Given the description of an element on the screen output the (x, y) to click on. 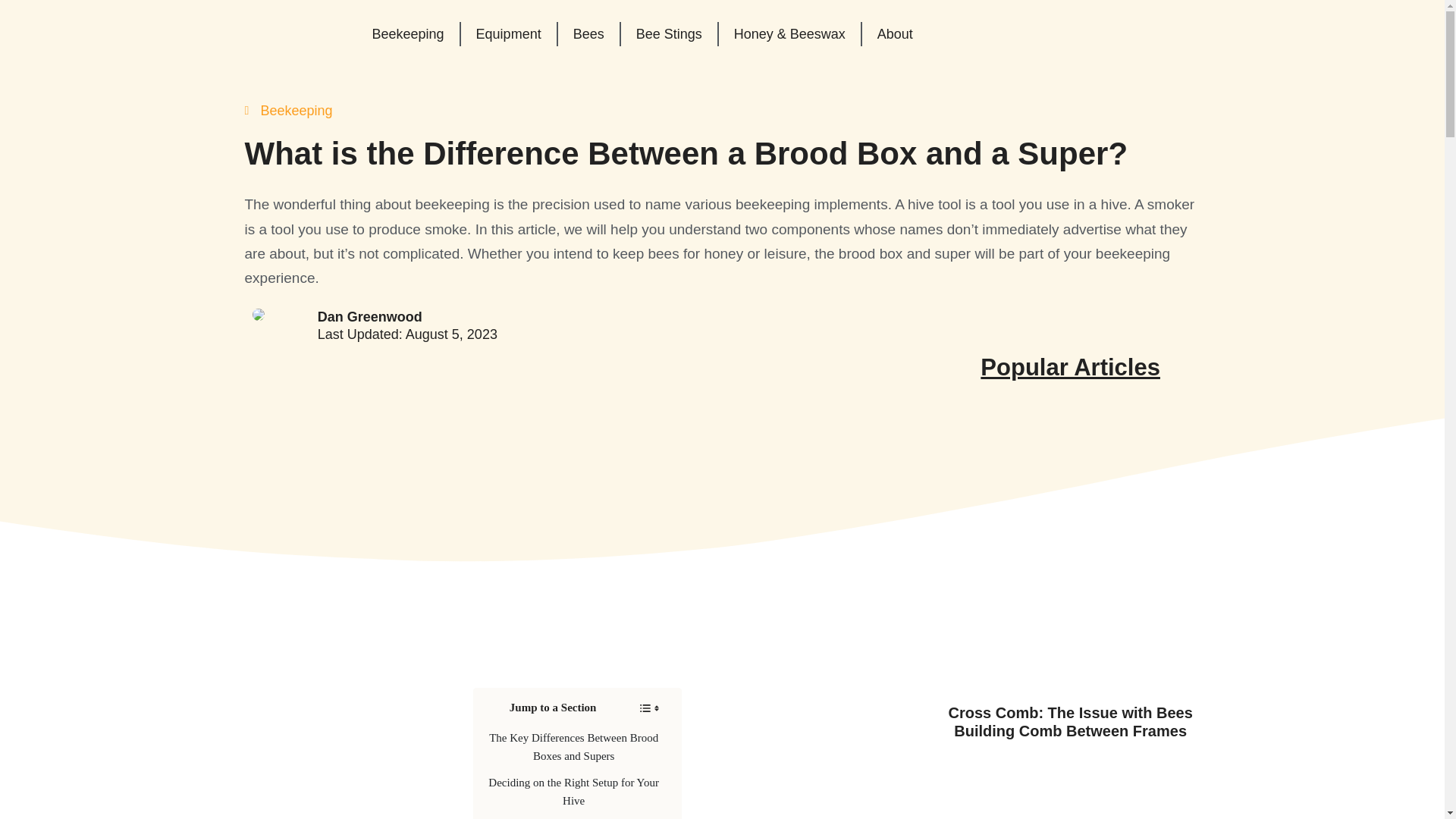
About (894, 33)
Bee Stings (669, 33)
The Key Differences Between Brood Boxes and Supers (573, 746)
Deciding on the Right Setup for Your Hive (573, 791)
Bees (588, 33)
Equipment (508, 33)
Cross Comb: The Issue with Bees Building Comb Between Frames (1069, 721)
Beekeeping (296, 110)
Deciding on the Right Setup for Your Hive (573, 791)
Beekeeping (407, 33)
The Key Differences Between Brood Boxes and Supers (573, 746)
